Given the description of an element on the screen output the (x, y) to click on. 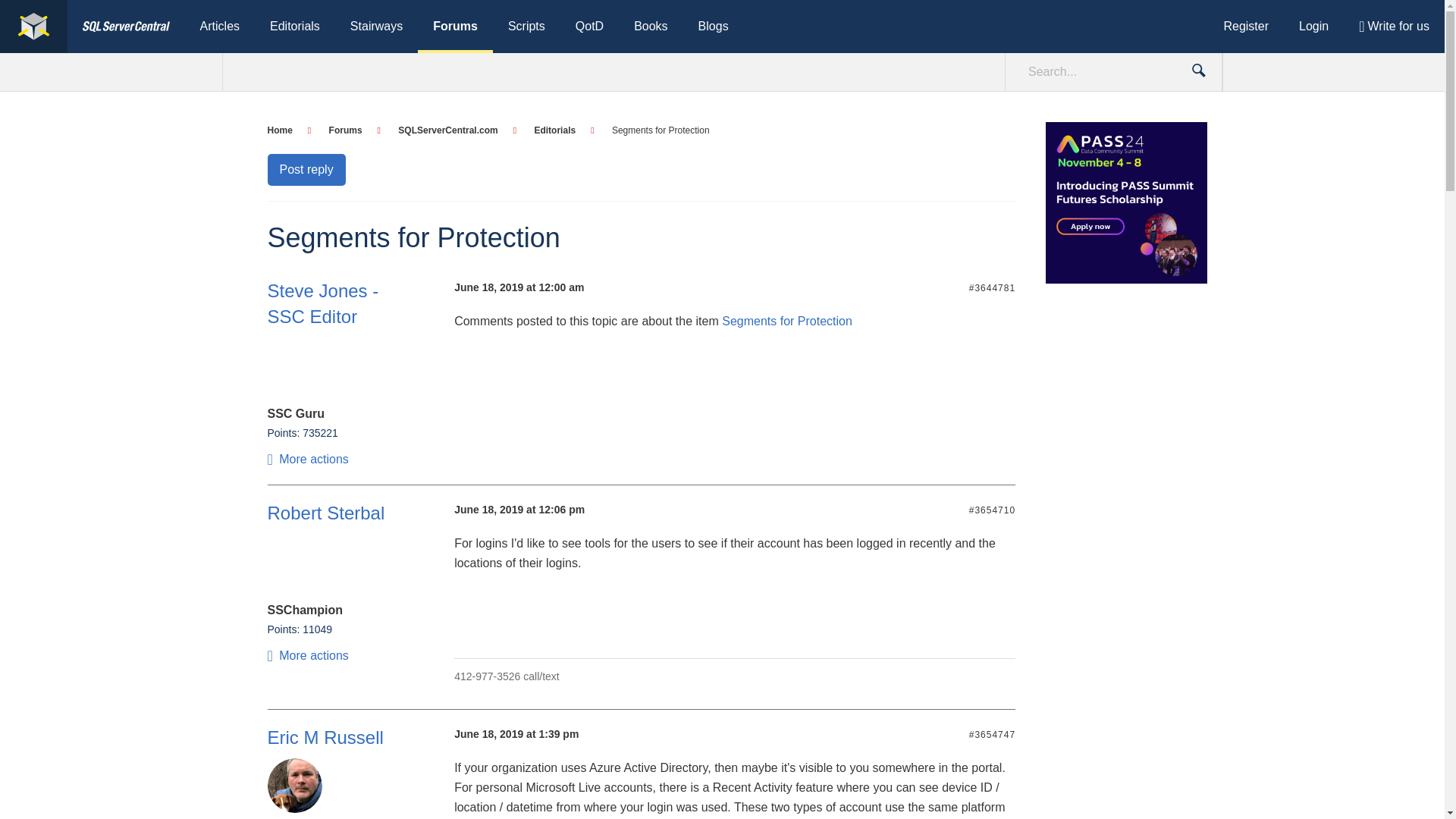
SQLServerCentral (33, 26)
Books (650, 26)
Editorials (564, 130)
Forums (354, 130)
Forums (455, 26)
QotD (589, 26)
SQLServerCentral (126, 26)
Stairways (375, 26)
Register (1246, 26)
Login (1313, 26)
Scripts (526, 26)
Editorials (294, 26)
Blogs (713, 26)
Articles (219, 26)
Home (288, 130)
